Given the description of an element on the screen output the (x, y) to click on. 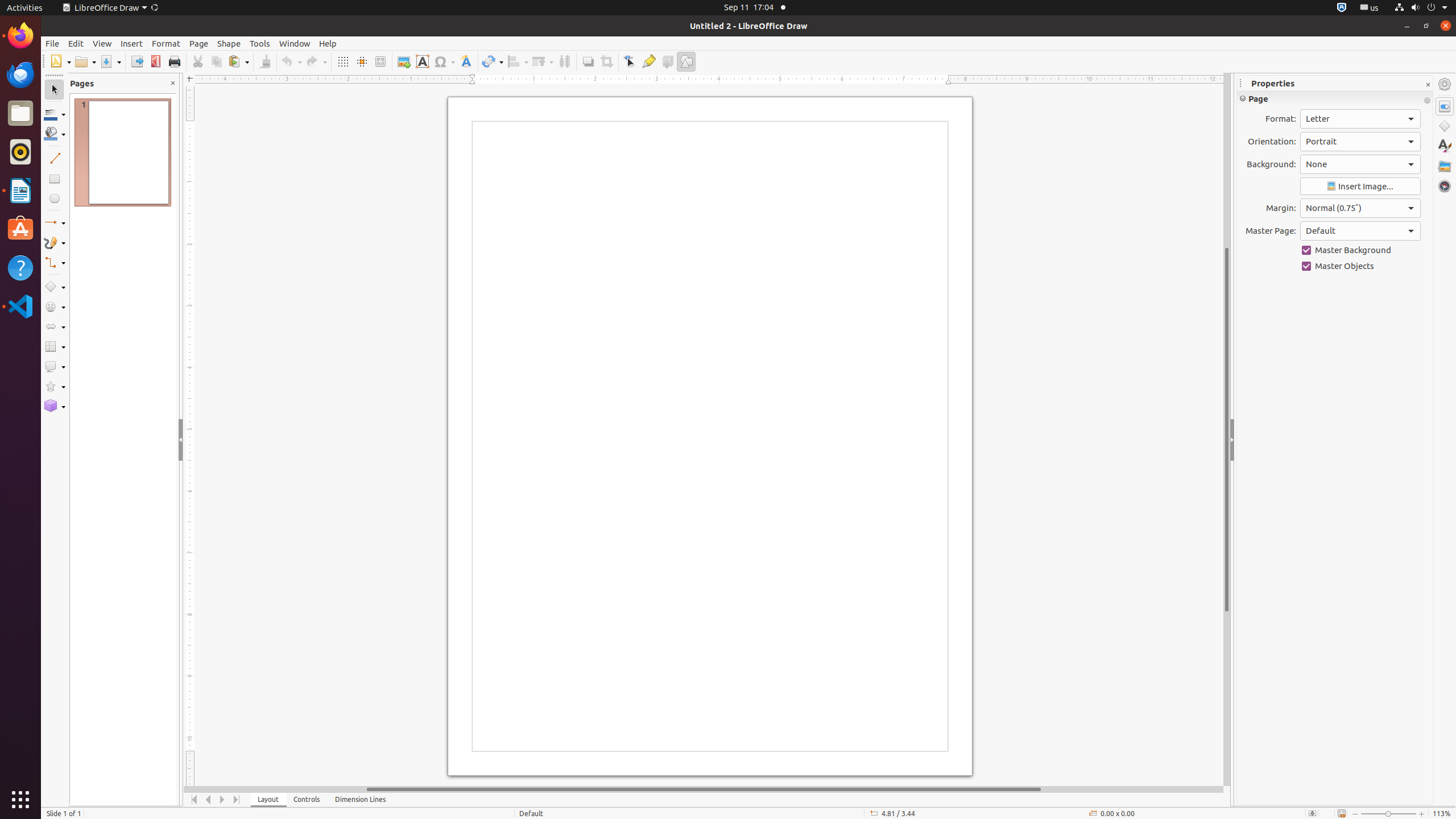
Select Element type: push-button (53, 89)
Fontwork Style Element type: toggle-button (465, 61)
Insert Image Element type: push-button (1360, 186)
Properties Element type: radio-button (1444, 106)
Vertical scroll bar Element type: scroll-bar (1226, 429)
